Given the description of an element on the screen output the (x, y) to click on. 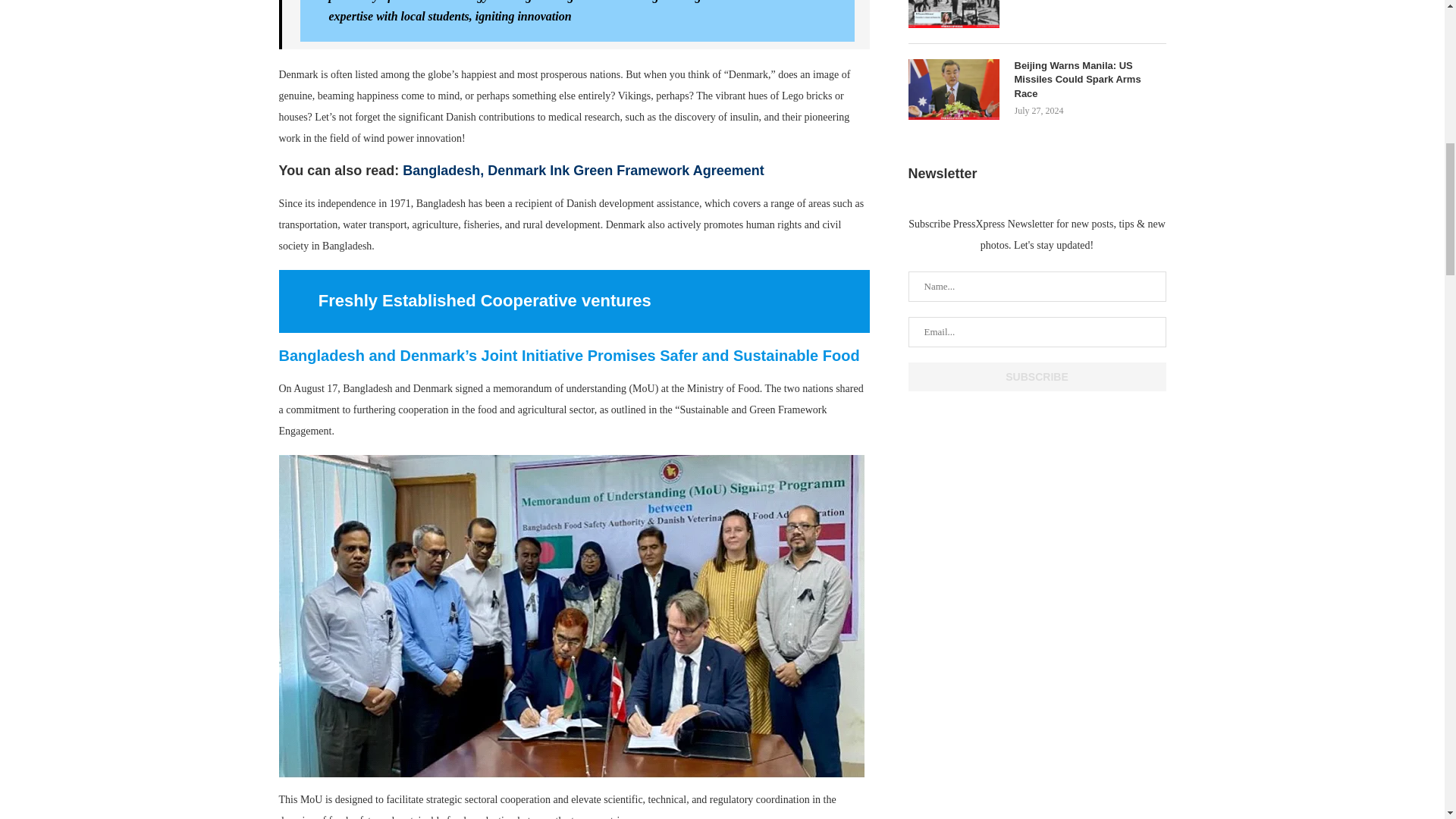
Subscribe (1037, 376)
